Given the description of an element on the screen output the (x, y) to click on. 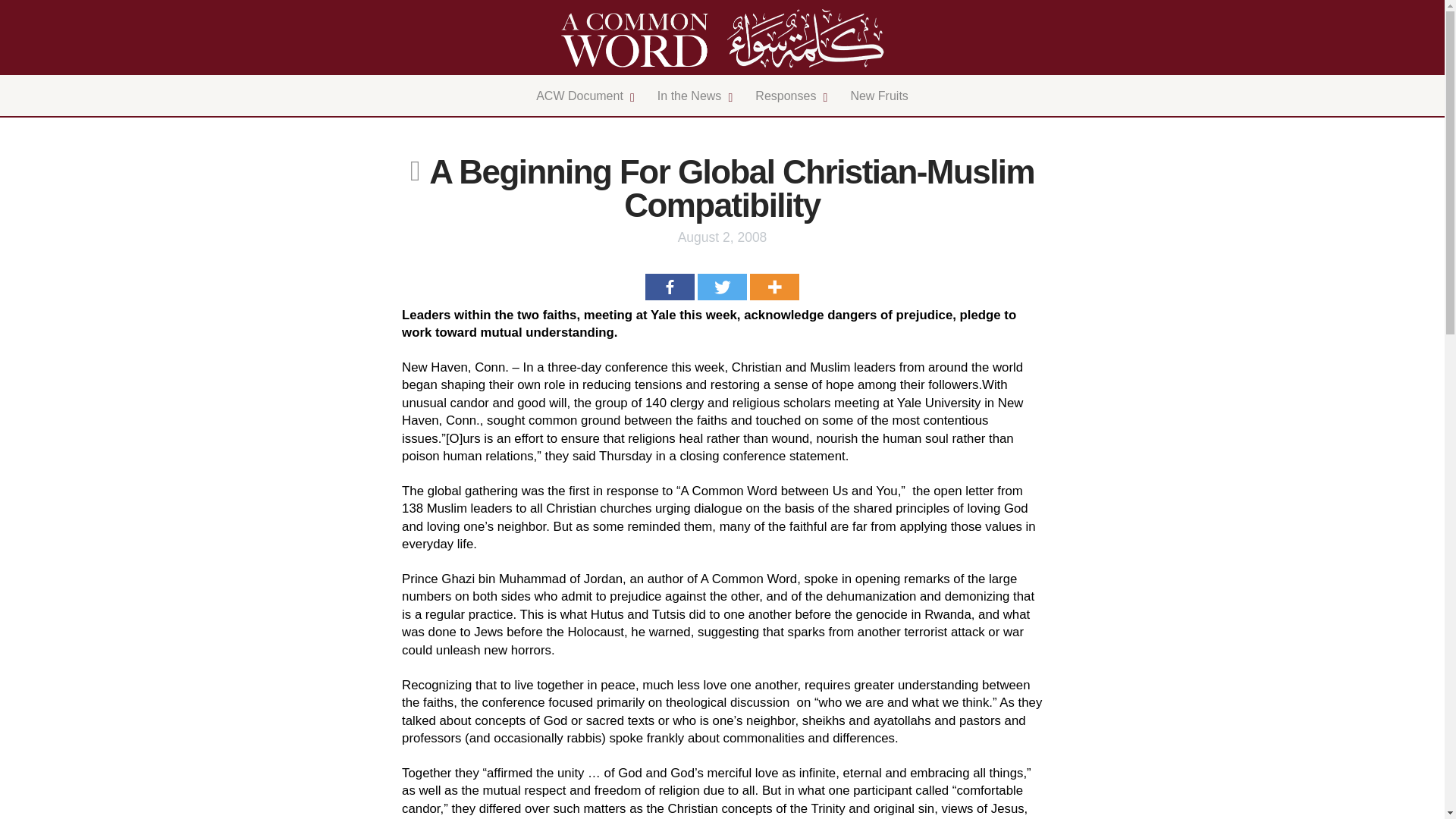
New Fruits (878, 96)
ACW Document (581, 96)
In the News (690, 96)
Responses (722, 96)
Facebook (786, 96)
More (669, 286)
Twitter (774, 286)
